Given the description of an element on the screen output the (x, y) to click on. 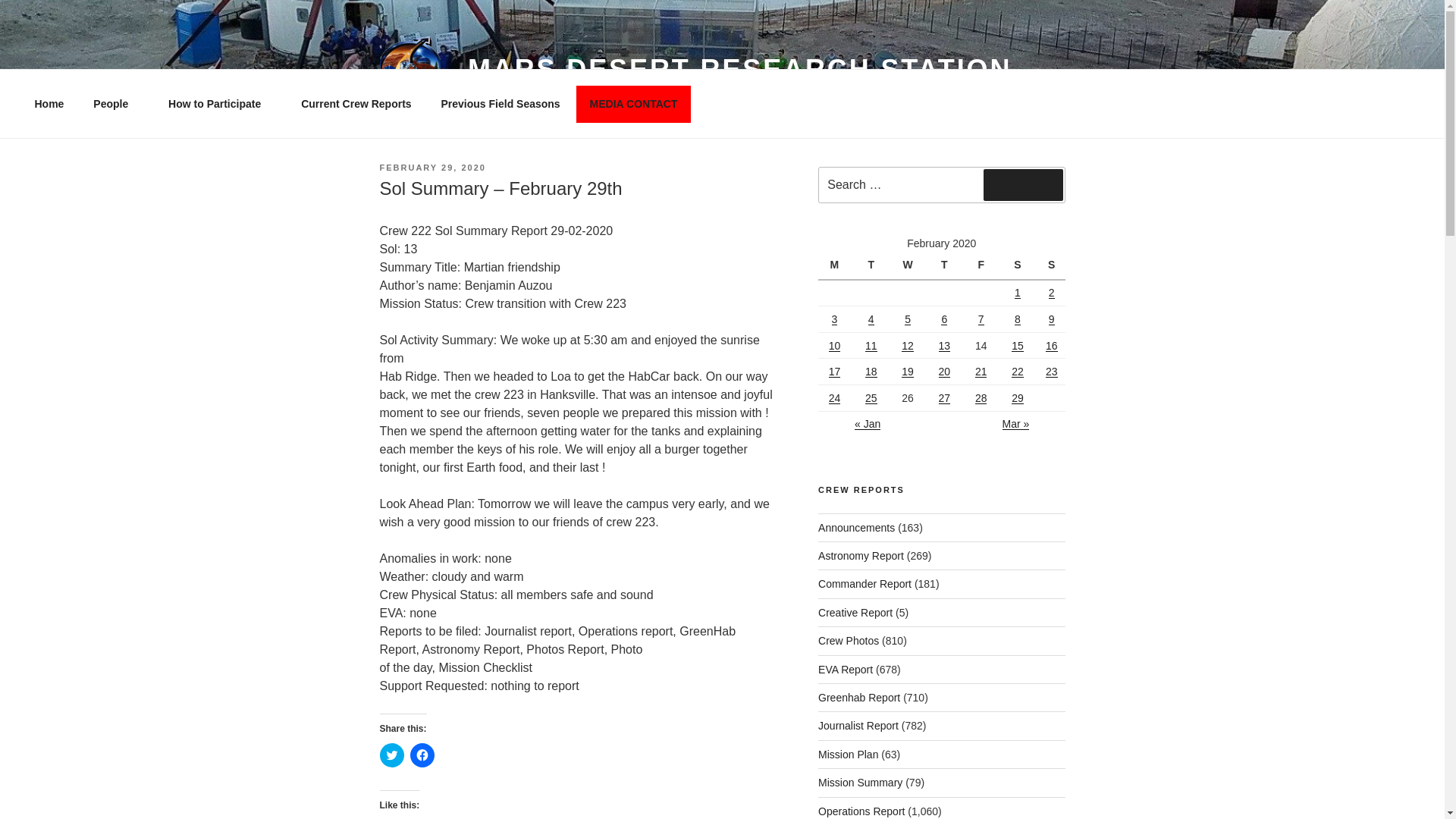
Click to share on Twitter (390, 754)
Saturday (1019, 266)
Click to share on Facebook (421, 754)
12 (907, 345)
MARS DESERT RESEARCH STATION (739, 69)
13 (944, 345)
Sunday (1051, 266)
How to Participate (220, 103)
Search (1023, 184)
Wednesday (909, 266)
